Given the description of an element on the screen output the (x, y) to click on. 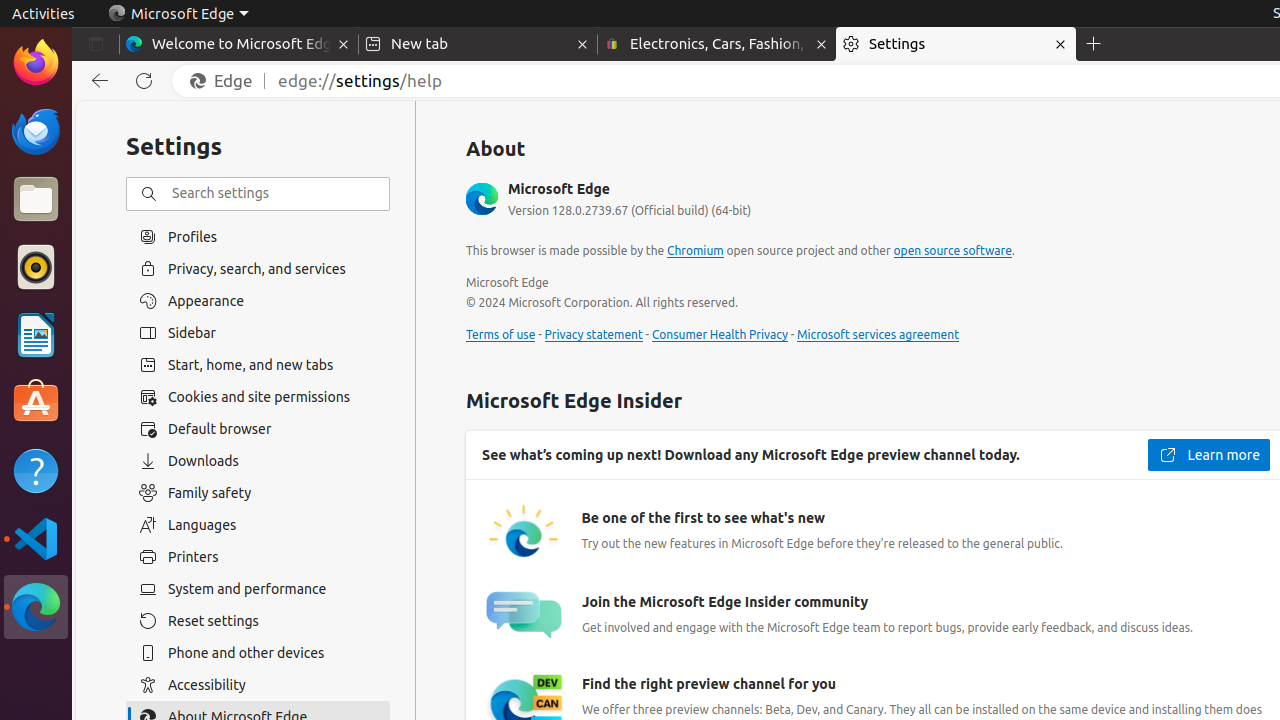
New Tab Element type: push-button (1094, 44)
Edge Element type: push-button (226, 81)
Downloads Element type: tree-item (258, 461)
Appearance Element type: tree-item (258, 301)
Printers Element type: tree-item (258, 557)
